Given the description of an element on the screen output the (x, y) to click on. 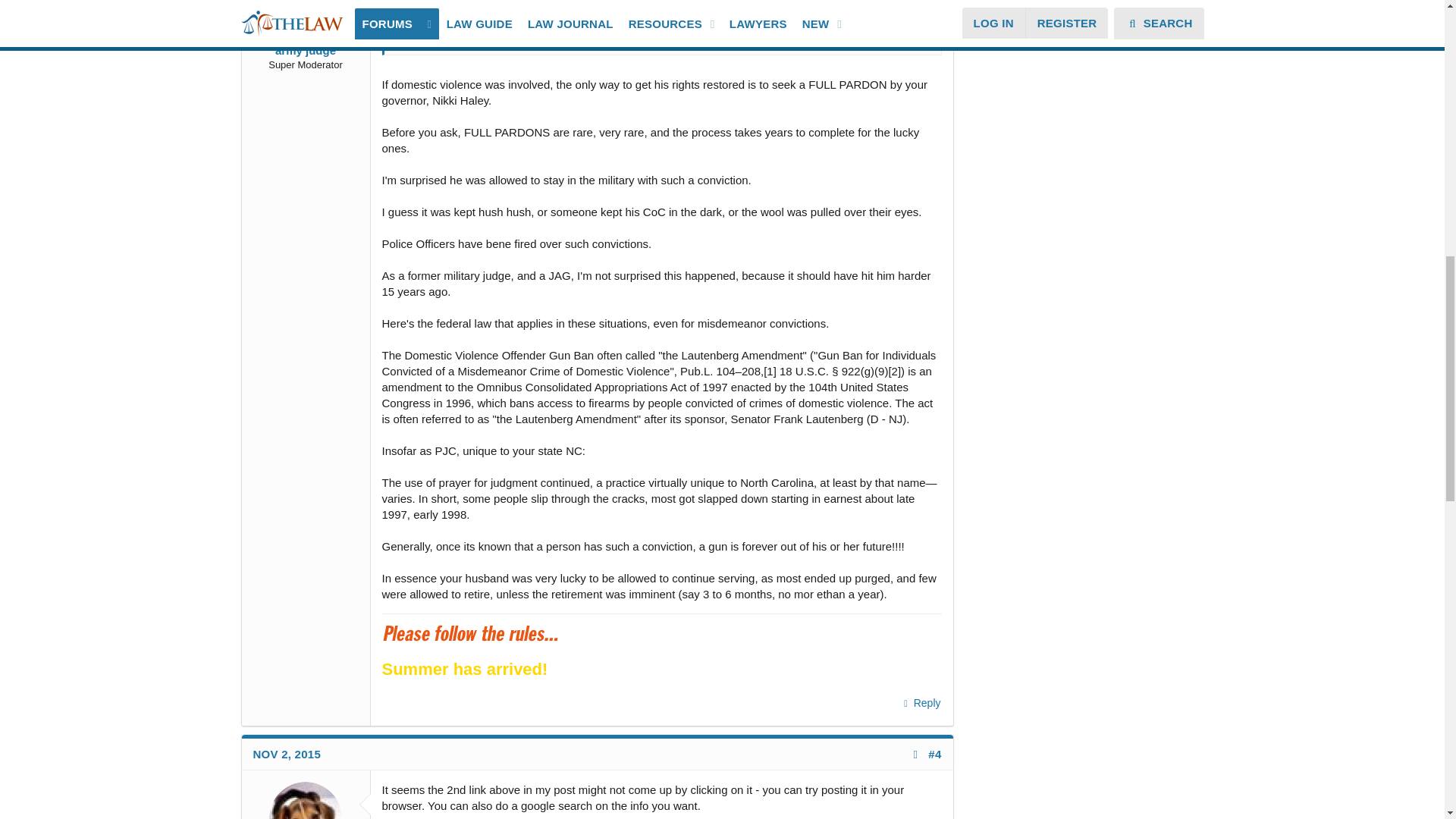
followtherules.gif (495, 637)
Nov 2, 2015 at 12:08 AM (286, 753)
Reply, quoting this message (920, 703)
